Given the description of an element on the screen output the (x, y) to click on. 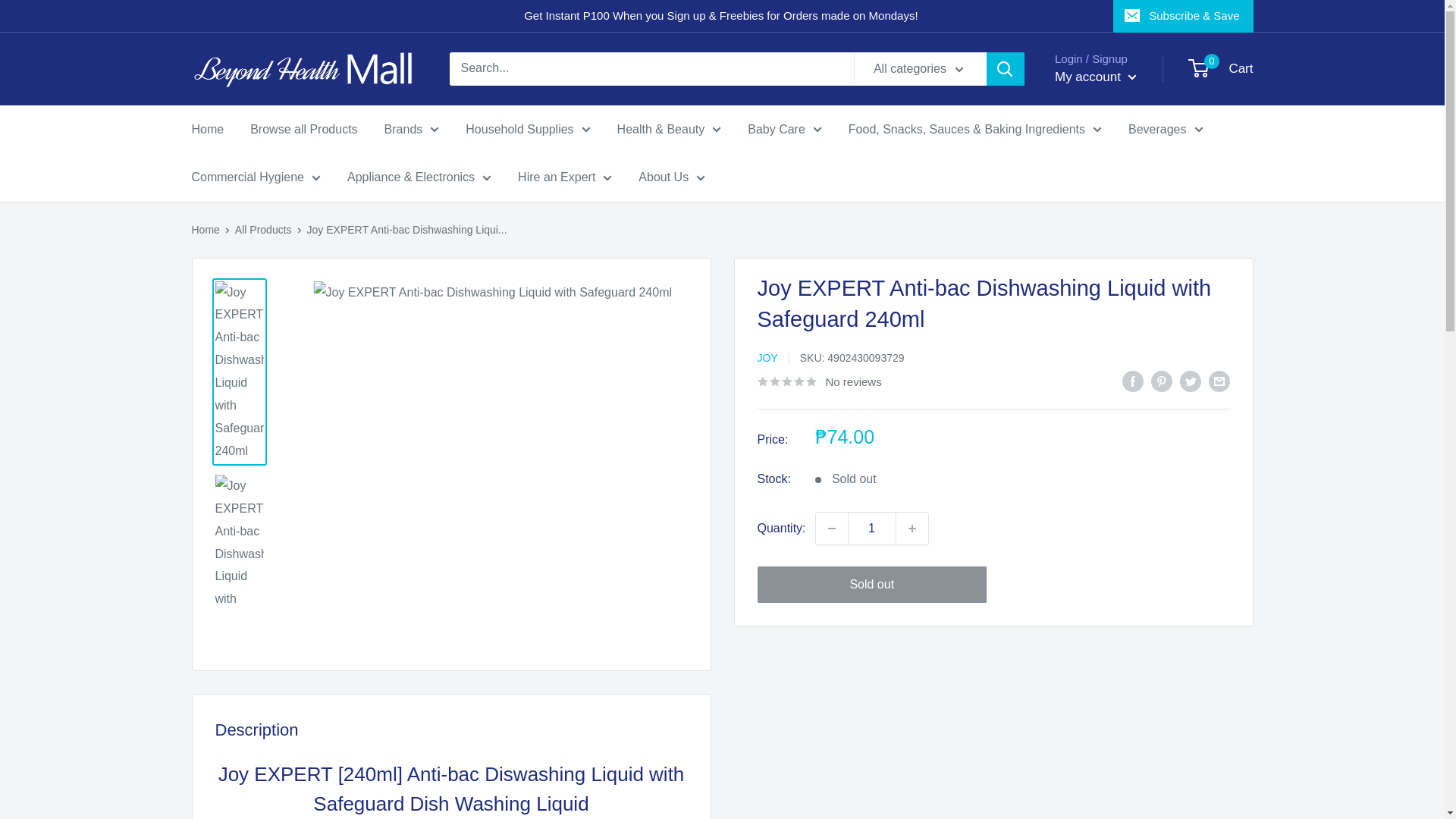
Decrease quantity by 1 (831, 528)
1 (871, 528)
Increase quantity by 1 (912, 528)
